Given the description of an element on the screen output the (x, y) to click on. 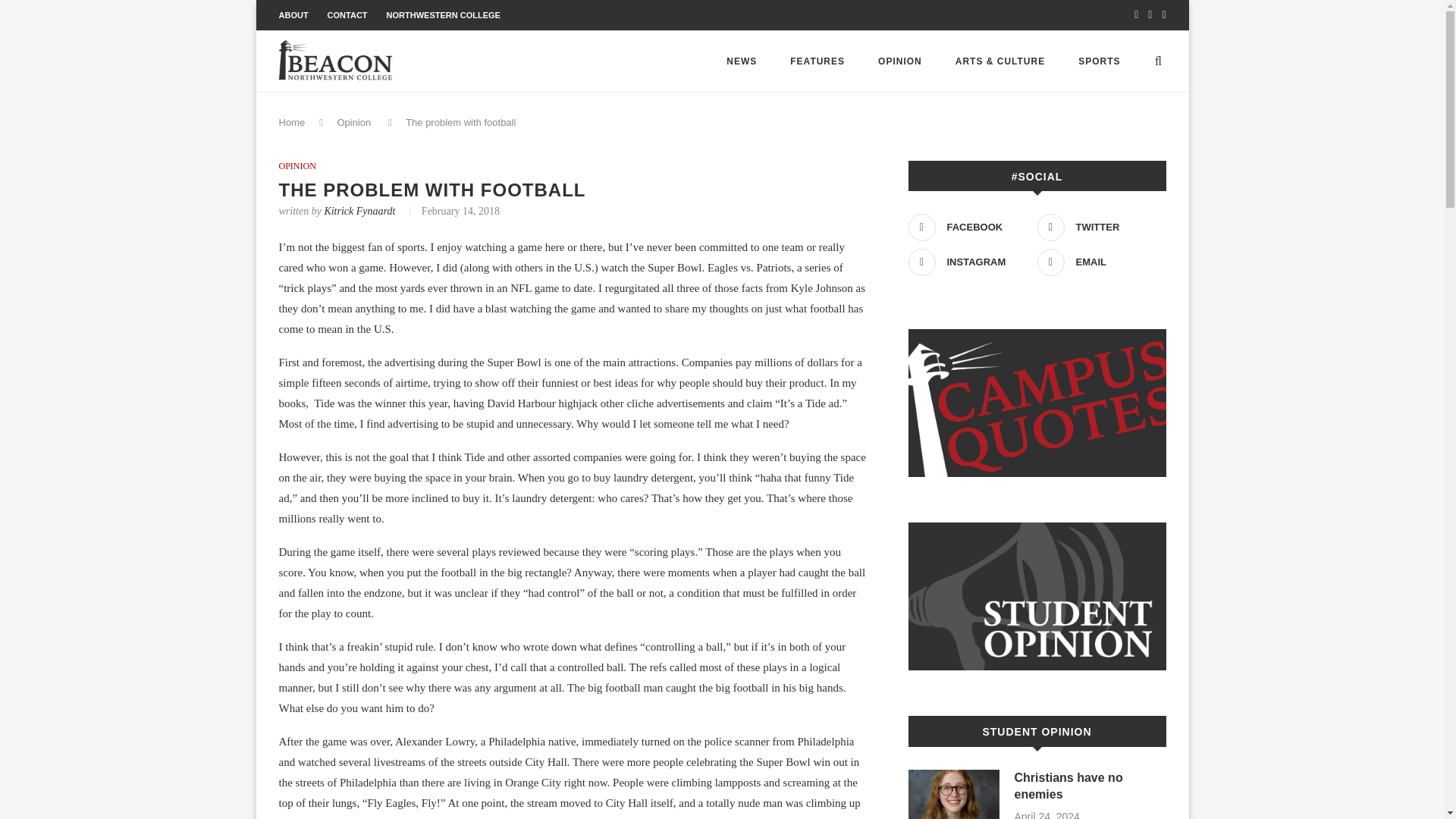
Christians have no enemies (1090, 786)
Christians have no enemies (953, 794)
Home (292, 122)
CONTACT (347, 14)
Kitrick Fynaardt (358, 211)
OPINION (297, 165)
View all posts in Opinion (297, 165)
Opinion (353, 122)
ABOUT (293, 14)
NORTHWESTERN COLLEGE (443, 14)
FEATURES (817, 61)
